Given the description of an element on the screen output the (x, y) to click on. 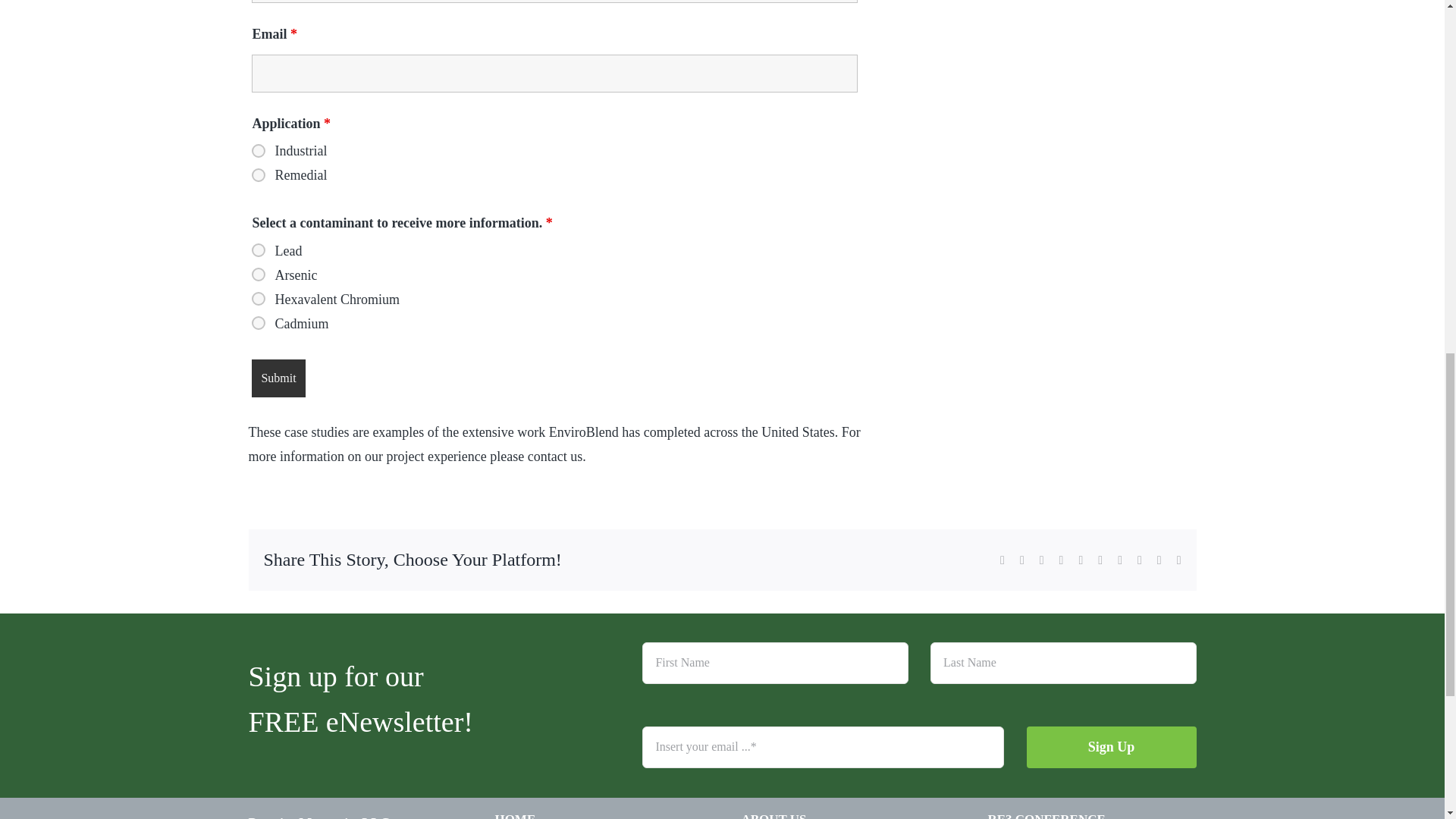
Submit (277, 378)
Sign Up (918, 705)
Submit (277, 378)
